Given the description of an element on the screen output the (x, y) to click on. 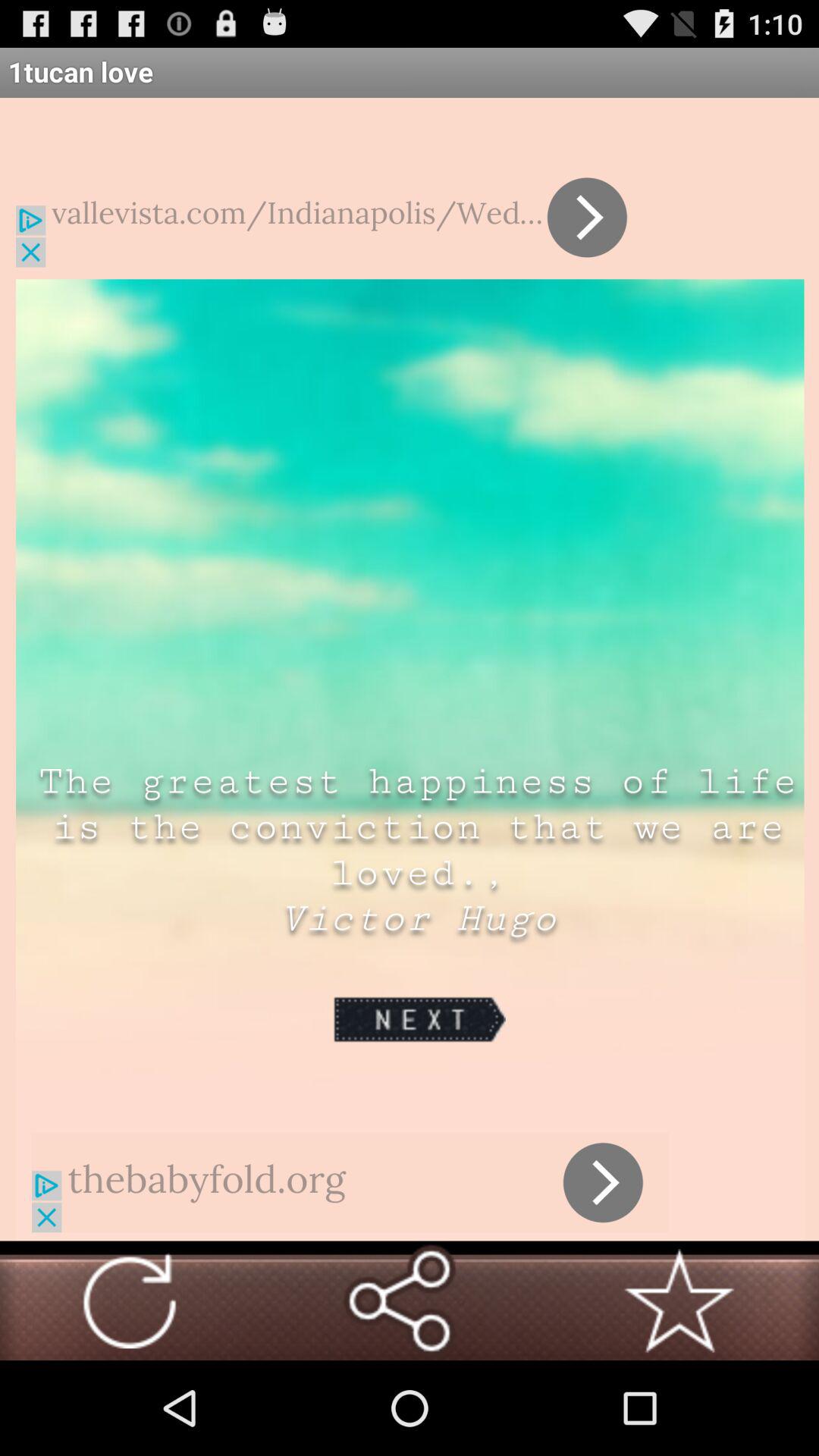
add quote to favorite (679, 1300)
